Given the description of an element on the screen output the (x, y) to click on. 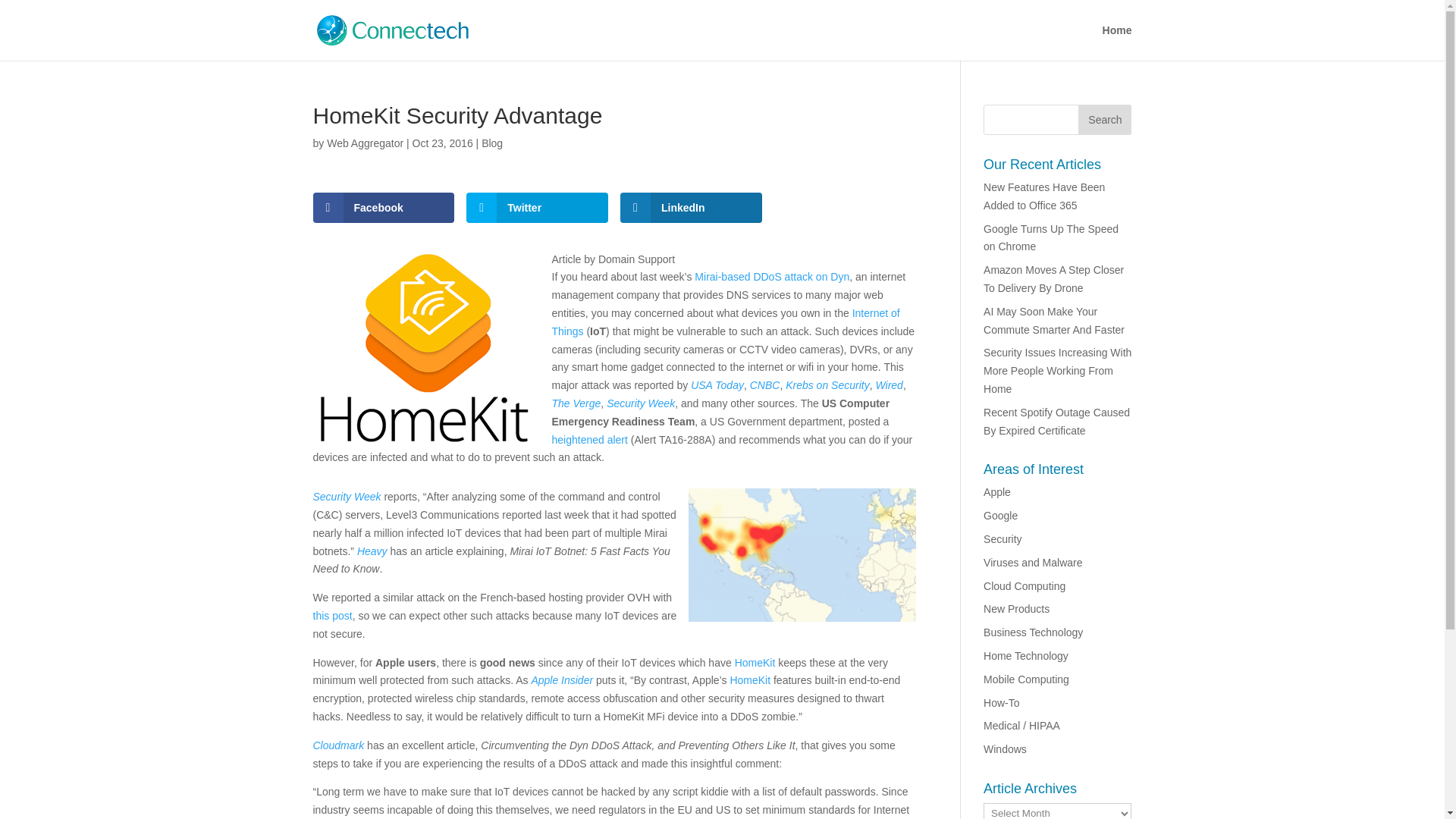
Facebook (383, 207)
Twitter (536, 207)
Mirai-based DDoS attack on Dyn (771, 276)
Search (1104, 119)
Apple (997, 491)
heightened alert (589, 439)
CNBC (764, 385)
The Verge (576, 403)
Cloud Computing (1024, 585)
Recent Spotify Outage Caused By Expired Certificate (1056, 421)
Apple Insider (561, 680)
Heavy (371, 551)
LinkedIn (690, 207)
Blog (491, 143)
Cloudmark (338, 745)
